Given the description of an element on the screen output the (x, y) to click on. 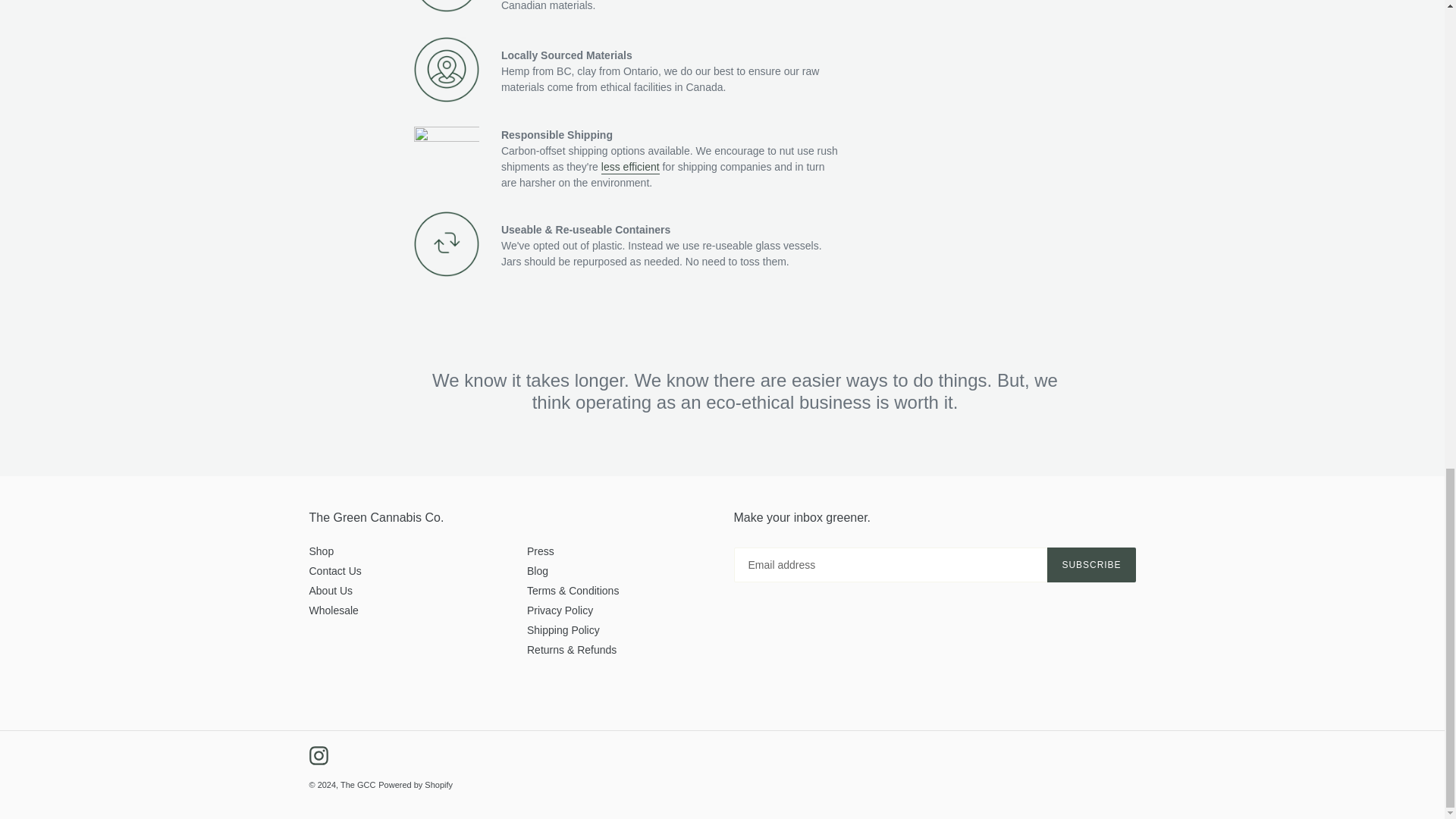
Shipping Policy (563, 630)
The GCC (357, 784)
Blog (537, 571)
Wholesale (333, 610)
Press (540, 551)
Powered by Shopify (415, 784)
SUBSCRIBE (1090, 564)
Shop (321, 551)
Privacy Policy (559, 610)
About Us (330, 590)
less efficient (630, 167)
Instagram (318, 755)
Contact Us (334, 571)
